Given the description of an element on the screen output the (x, y) to click on. 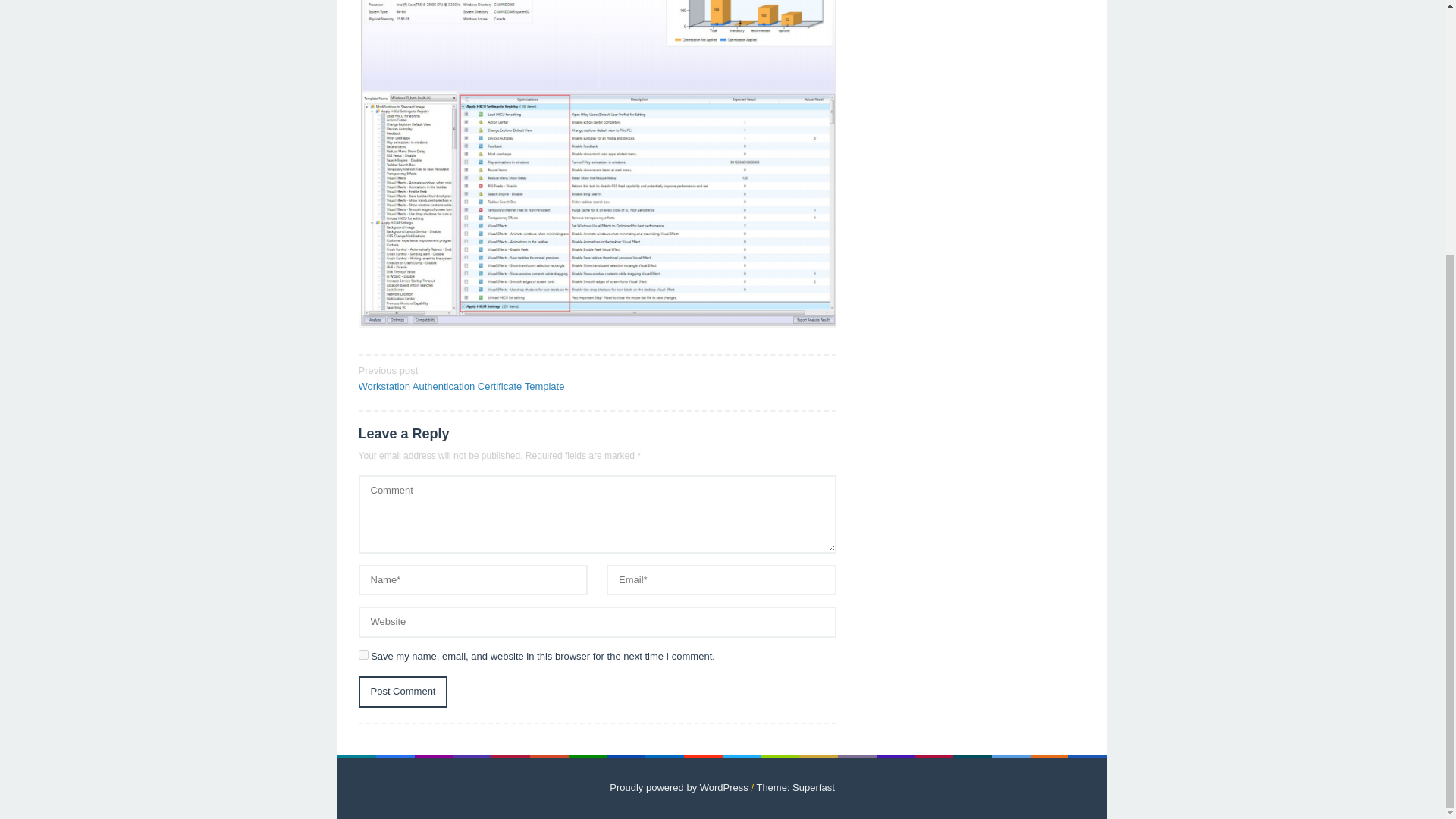
yes (363, 655)
Theme: Superfast (794, 787)
Proudly powered by WordPress (679, 787)
Theme: Superfast (794, 787)
Post Comment (402, 691)
Proudly powered by WordPress (679, 787)
Post Comment (402, 691)
